Given the description of an element on the screen output the (x, y) to click on. 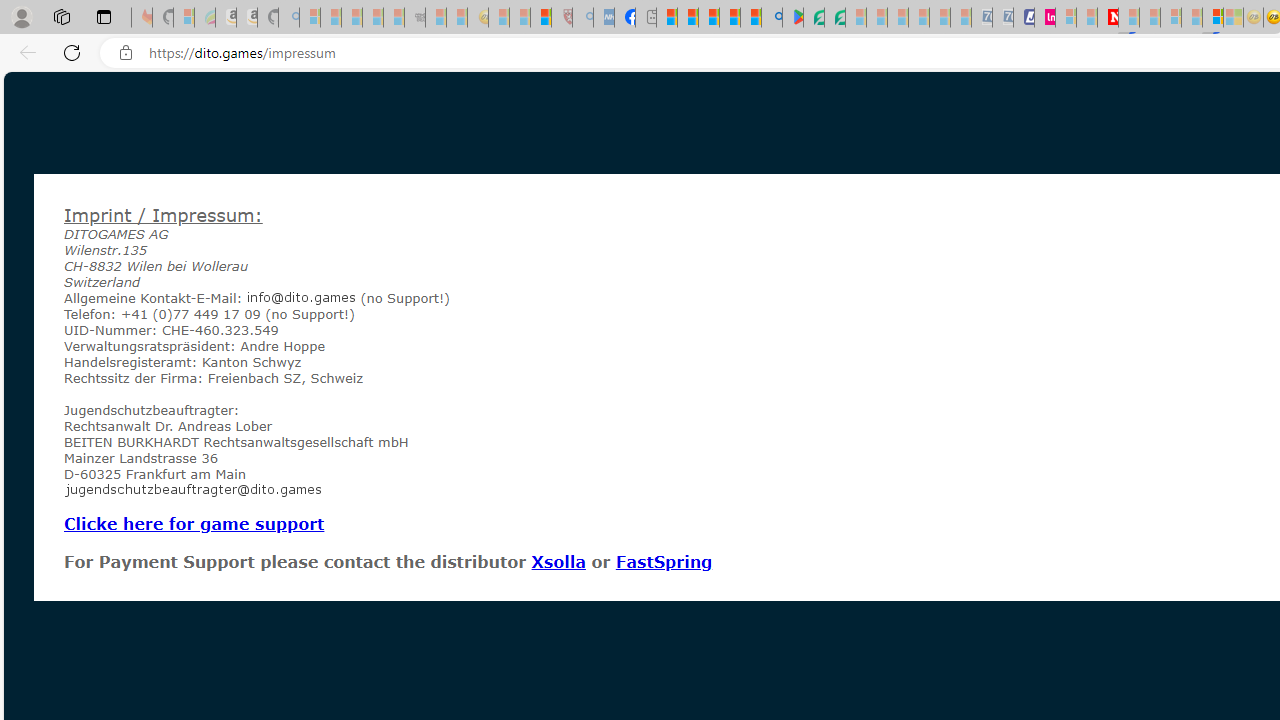
google - Search (771, 17)
The Weather Channel - MSN - Sleeping (351, 17)
New tab - Sleeping (646, 17)
Local - MSN (541, 17)
Combat Siege (414, 17)
FastSpring (663, 561)
Trusted Community Engagement and Contributions | Guidelines (1128, 17)
